Given the description of an element on the screen output the (x, y) to click on. 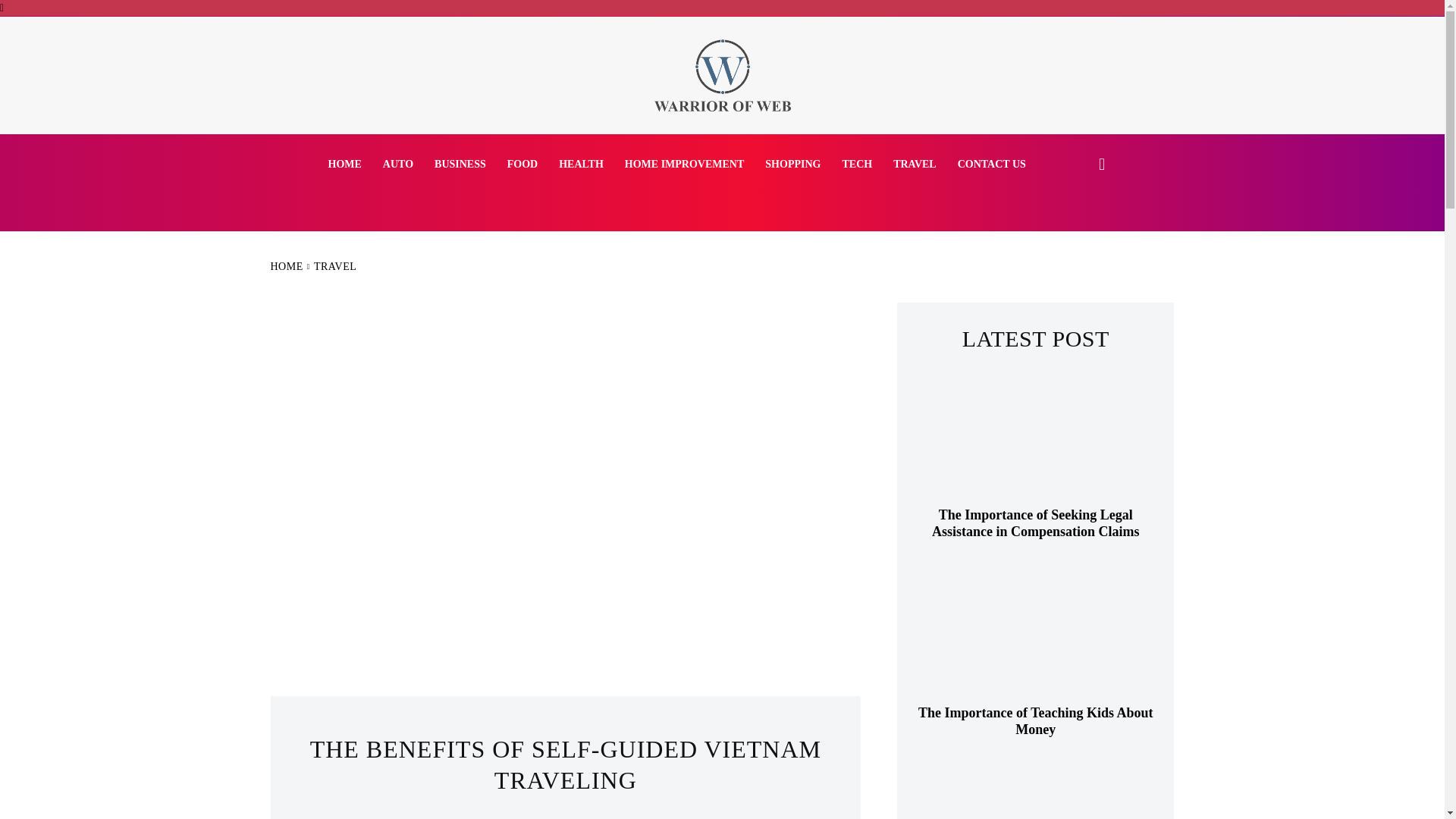
BUSINESS (459, 164)
HOME (285, 266)
HOME (344, 164)
HEALTH (581, 164)
HOME IMPROVEMENT (684, 164)
The Importance of Teaching Kids About Money (1035, 634)
SHOPPING (792, 164)
View all posts in Travel (335, 266)
TRAVEL (335, 266)
CONTACT US (991, 164)
The Importance of Teaching Kids About Money (1035, 721)
TRAVEL (914, 164)
